Given the description of an element on the screen output the (x, y) to click on. 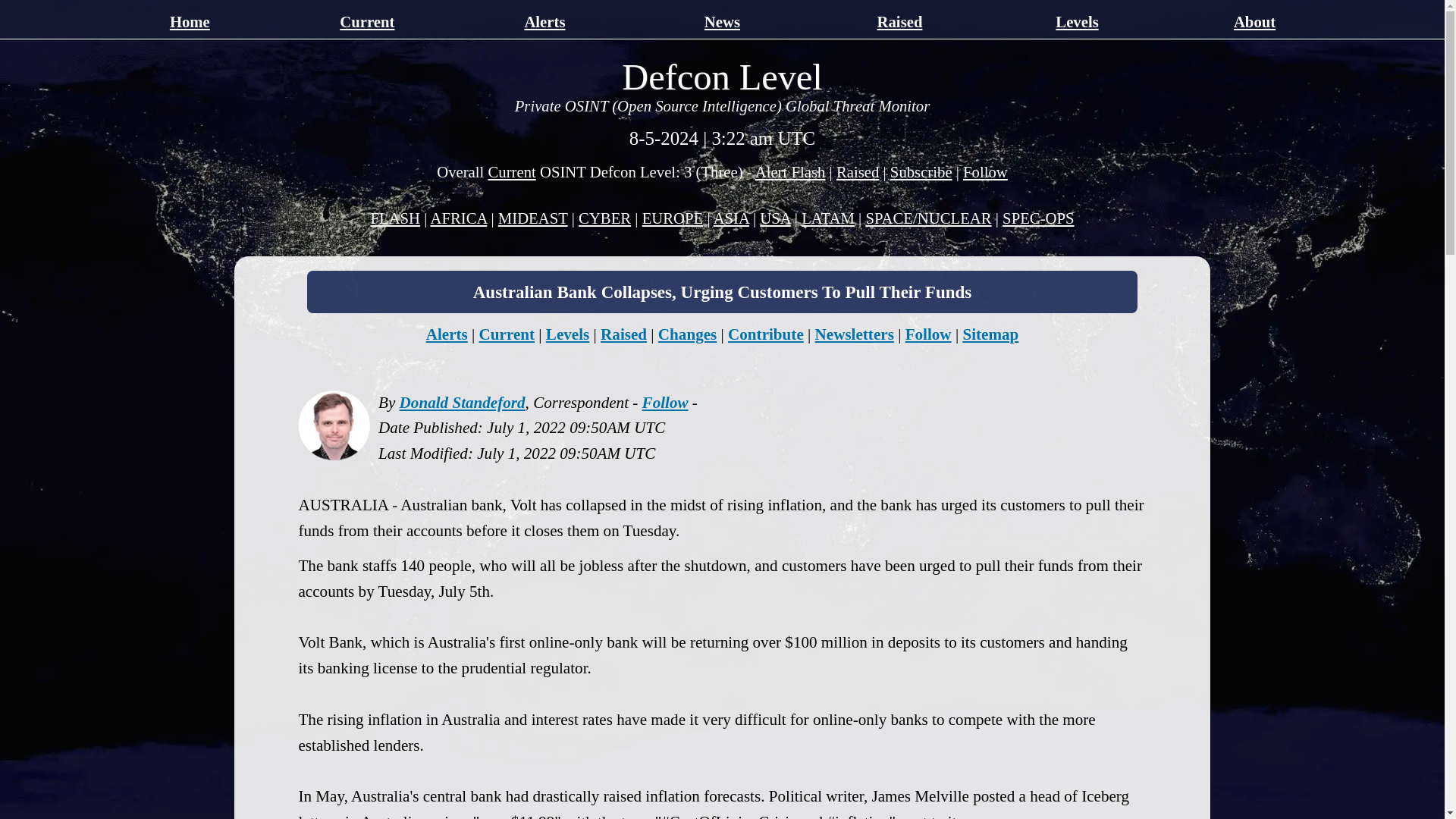
CYBER (604, 217)
Currently Raised alerts (900, 21)
Home (189, 21)
Cyber (604, 217)
Defcon Level Alerts (544, 21)
Breaking News (790, 171)
Special Ops (1038, 217)
Raised (900, 21)
Raised (857, 171)
Indo-Pacific (731, 217)
Subscribe (920, 171)
Follow (928, 334)
FLASH (394, 217)
Alerts (544, 21)
News (721, 21)
